Given the description of an element on the screen output the (x, y) to click on. 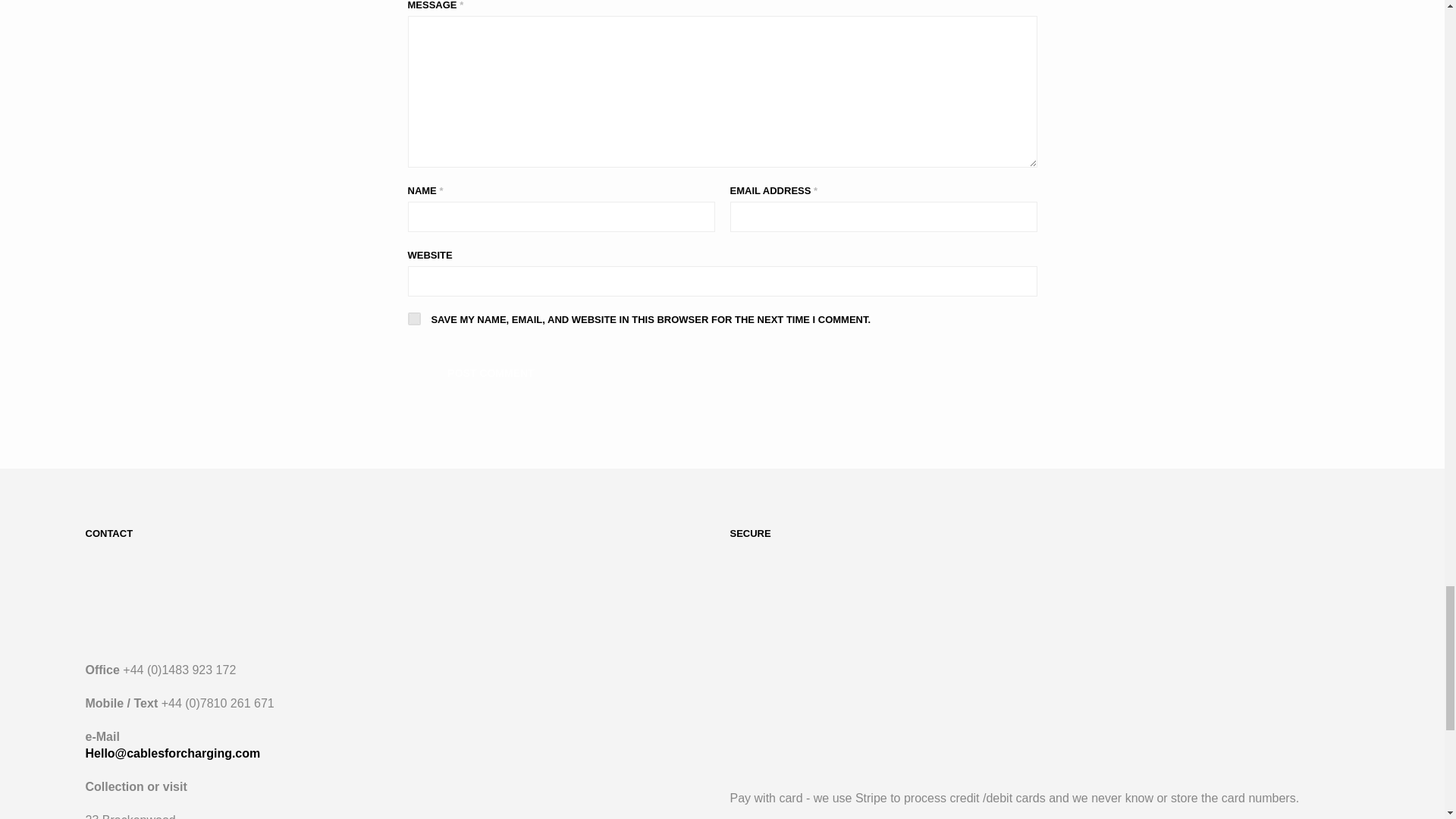
Post Comment (491, 372)
yes (413, 318)
